Given the description of an element on the screen output the (x, y) to click on. 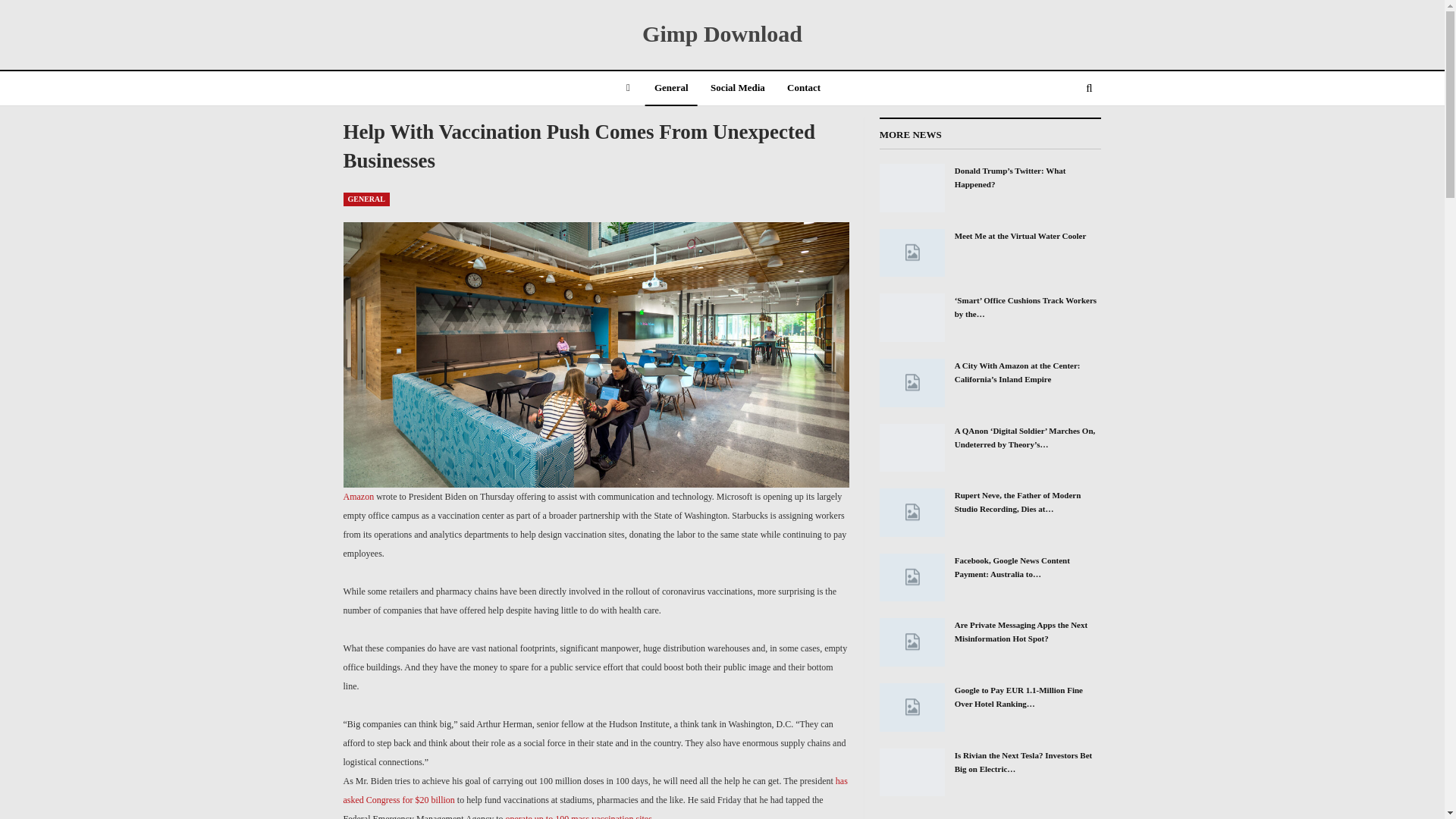
Amazon (358, 496)
General (671, 89)
GENERAL (365, 199)
operate up to 100 mass vaccination sites (578, 816)
Gimp Download (722, 33)
Contact (803, 89)
Social Media (737, 89)
